Given the description of an element on the screen output the (x, y) to click on. 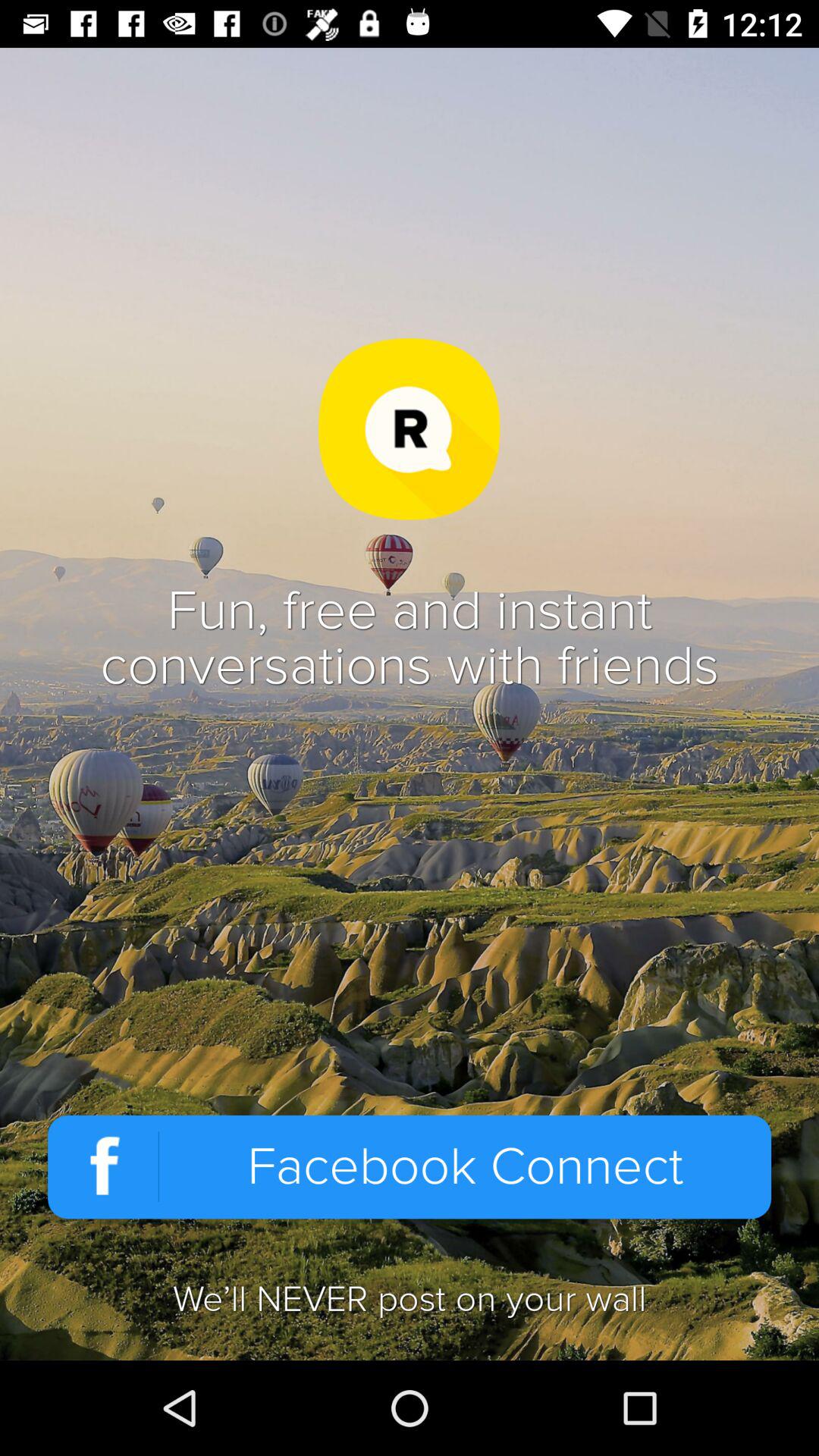
turn on facebook connect icon (409, 1166)
